Given the description of an element on the screen output the (x, y) to click on. 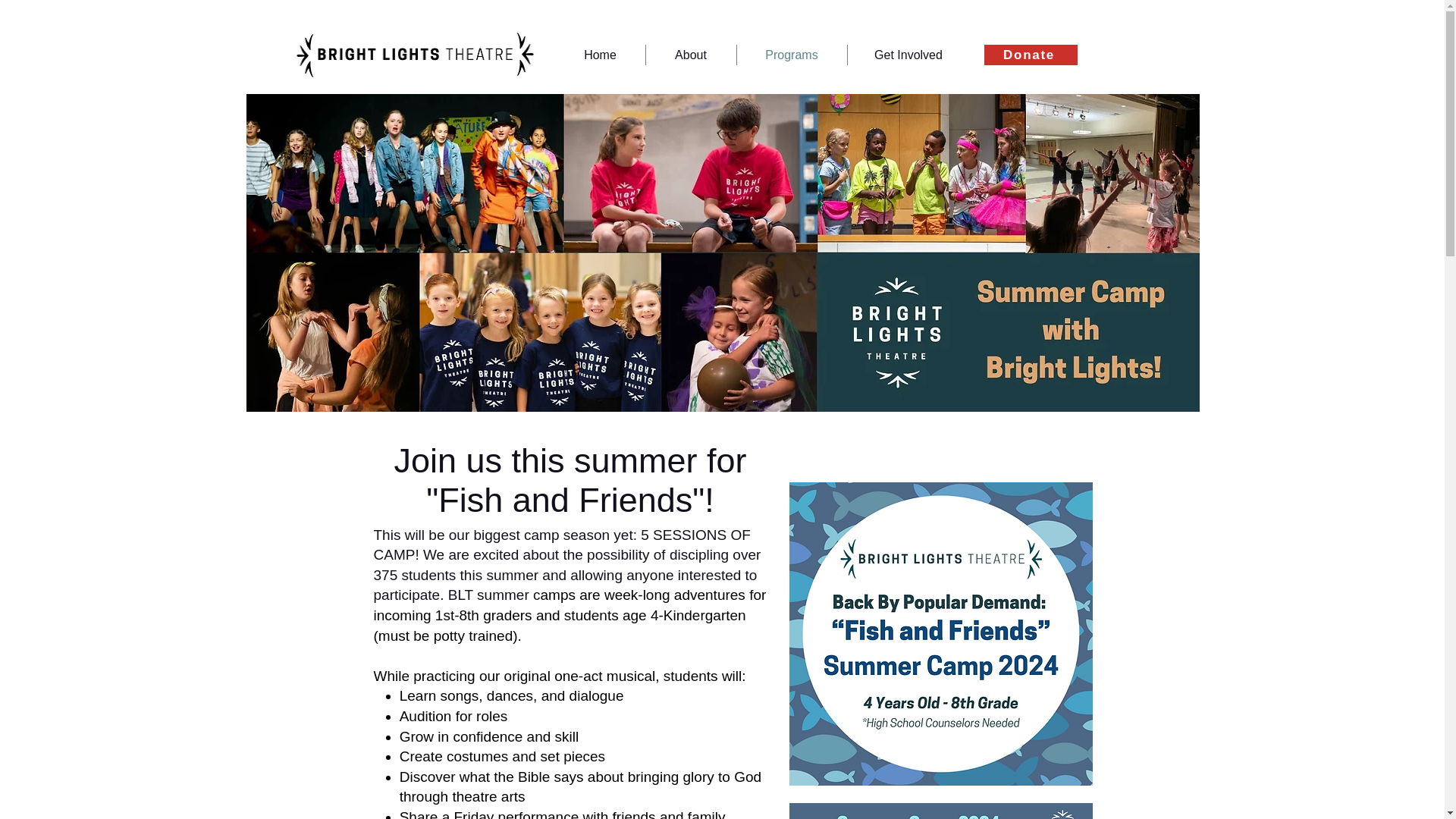
About (691, 55)
Donate (1030, 55)
Get Involved (908, 55)
Home (599, 55)
Programs (791, 55)
